Given the description of an element on the screen output the (x, y) to click on. 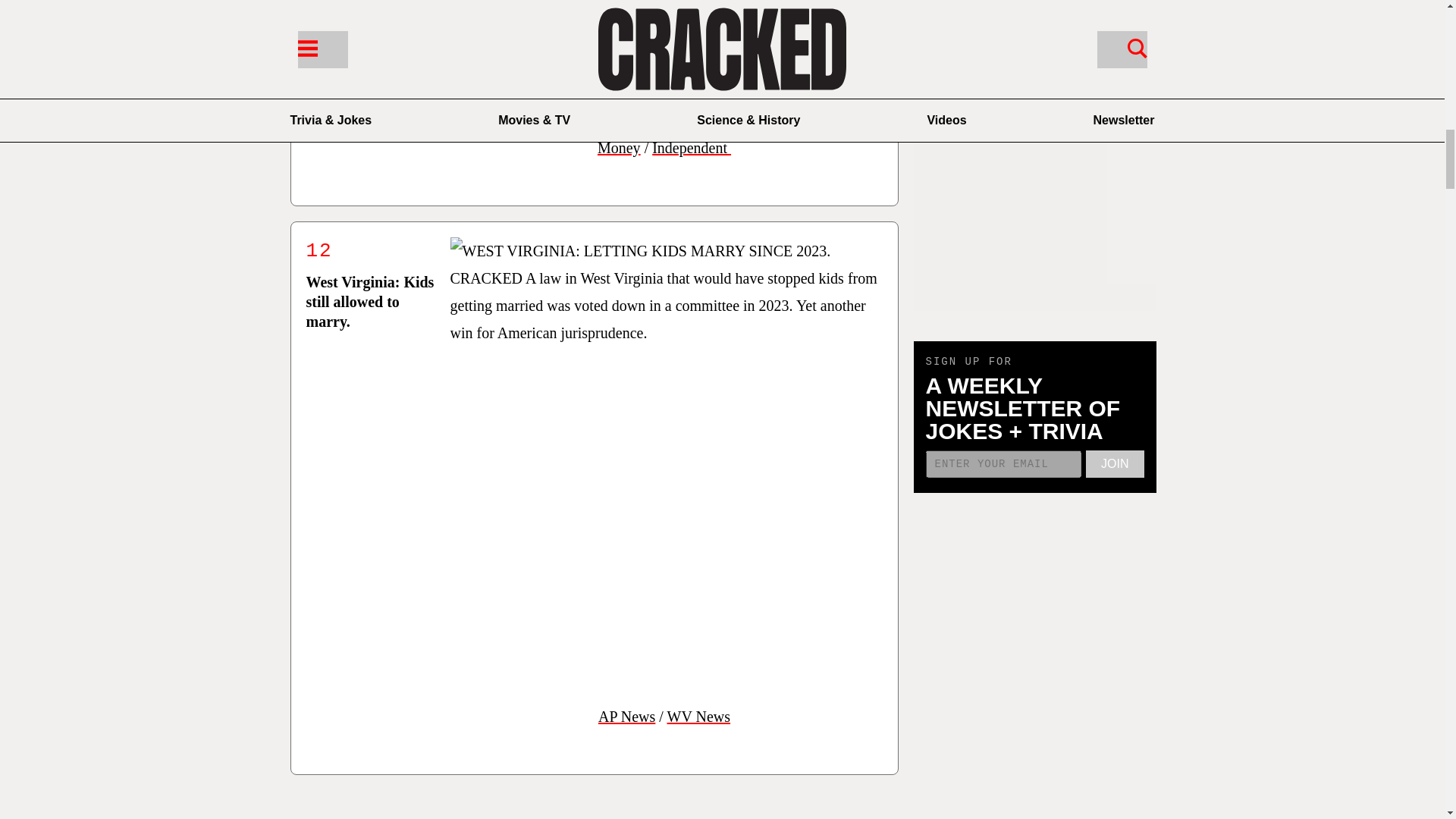
Money (618, 147)
Independent  (691, 147)
AP News (626, 716)
